Given the description of an element on the screen output the (x, y) to click on. 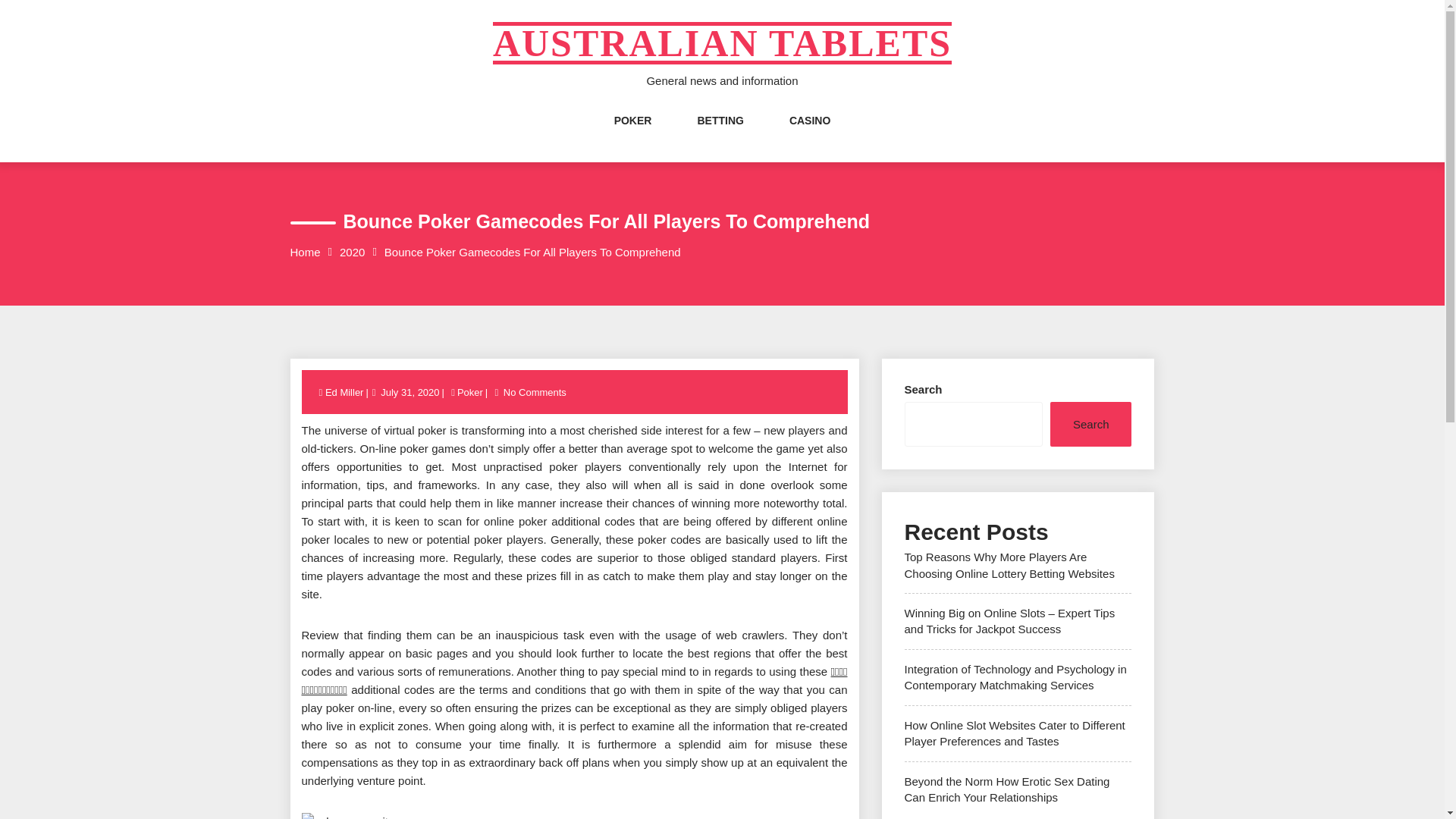
CASINO (809, 135)
2020 (352, 251)
Ed Miller (345, 392)
July 31, 2020 (409, 392)
AUSTRALIAN TABLETS (722, 43)
Home (304, 251)
BETTING (719, 135)
Poker (469, 392)
Search (1090, 424)
No Comments (534, 392)
